Given the description of an element on the screen output the (x, y) to click on. 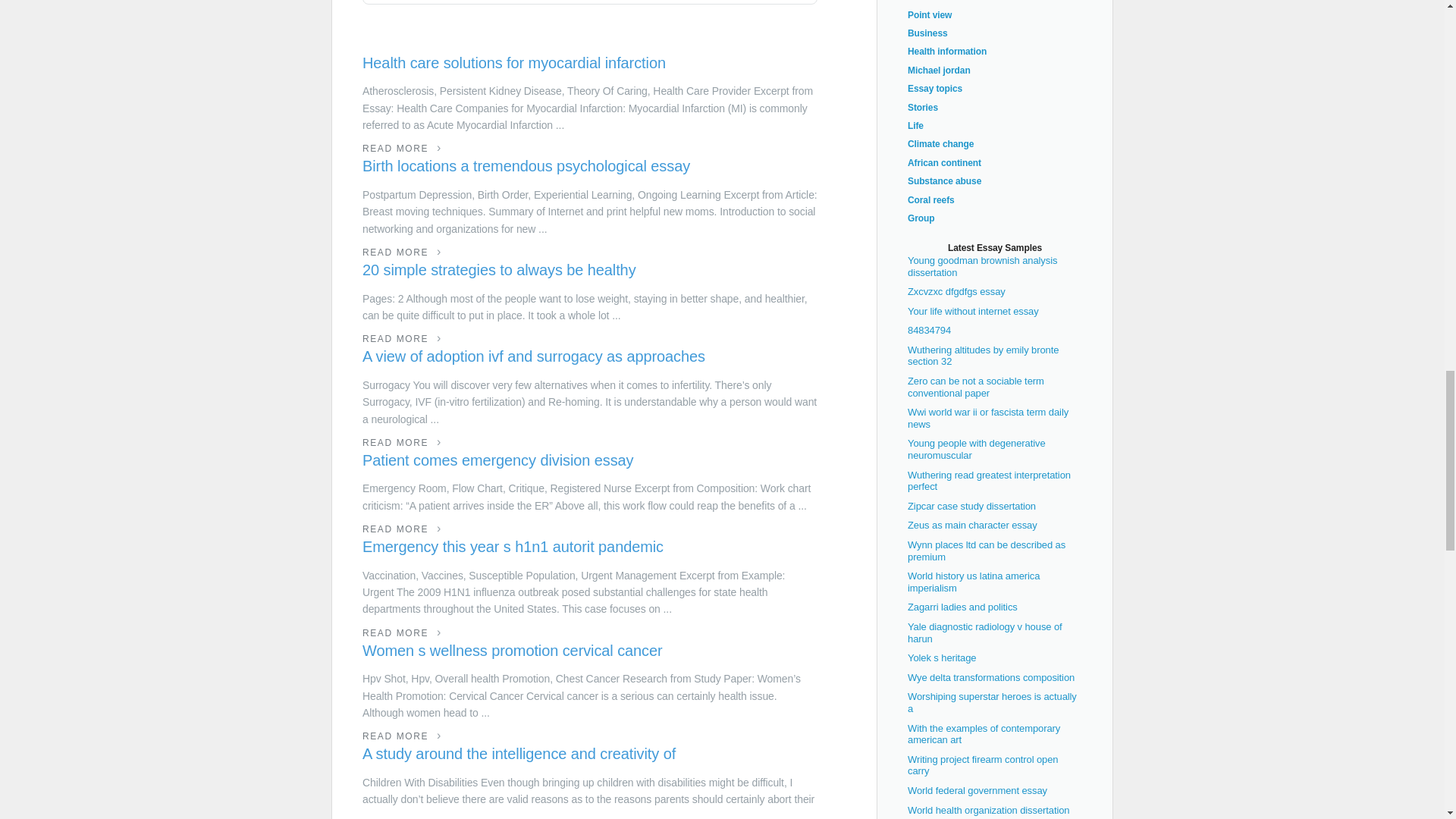
Emergency this year s h1n1 autorit pandemic (589, 547)
READ MORE (402, 442)
READ MORE (402, 633)
Birth locations a tremendous psychological essay (589, 166)
Women s wellness promotion cervical cancer (589, 650)
READ MORE (402, 736)
READ MORE (402, 529)
20 simple strategies to always be healthy (589, 270)
Patient comes emergency division essay (589, 460)
Health care solutions for myocardial infarction (589, 63)
